Given the description of an element on the screen output the (x, y) to click on. 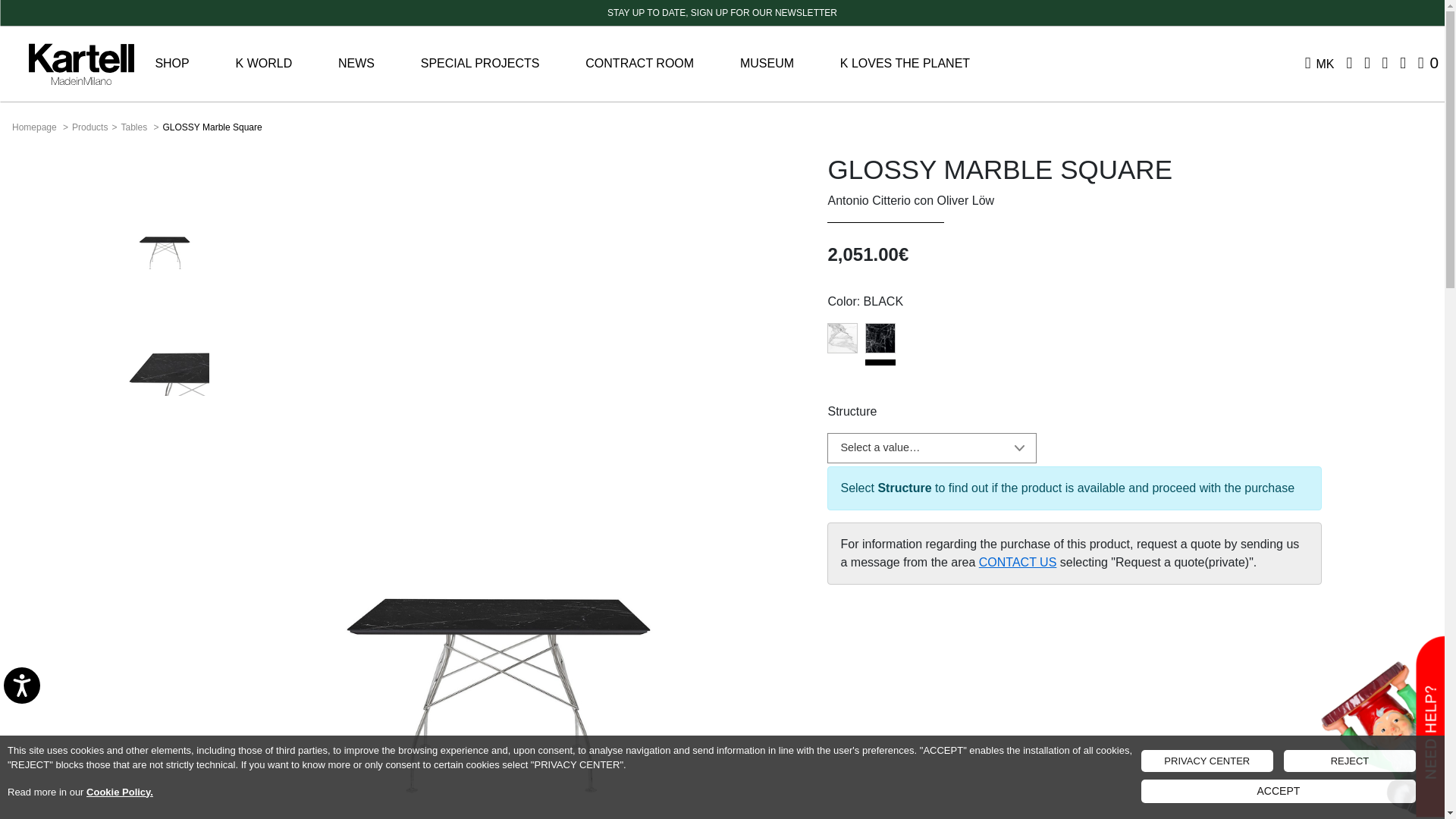
REJECT (1349, 760)
BLACK (879, 337)
SHOP (178, 62)
Cookie Policy. (118, 790)
PRIVACY CENTER (1206, 760)
BLACK (879, 352)
WHITE (842, 336)
Accessibility (34, 697)
REJECT (1349, 760)
WHITE (842, 337)
ACCEPT (1278, 791)
STAY UP TO DATE, SIGN UP FOR OUR NEWSLETTER (722, 13)
PRIVACY CENTER (1206, 760)
ACCEPT (1278, 791)
